Given the description of an element on the screen output the (x, y) to click on. 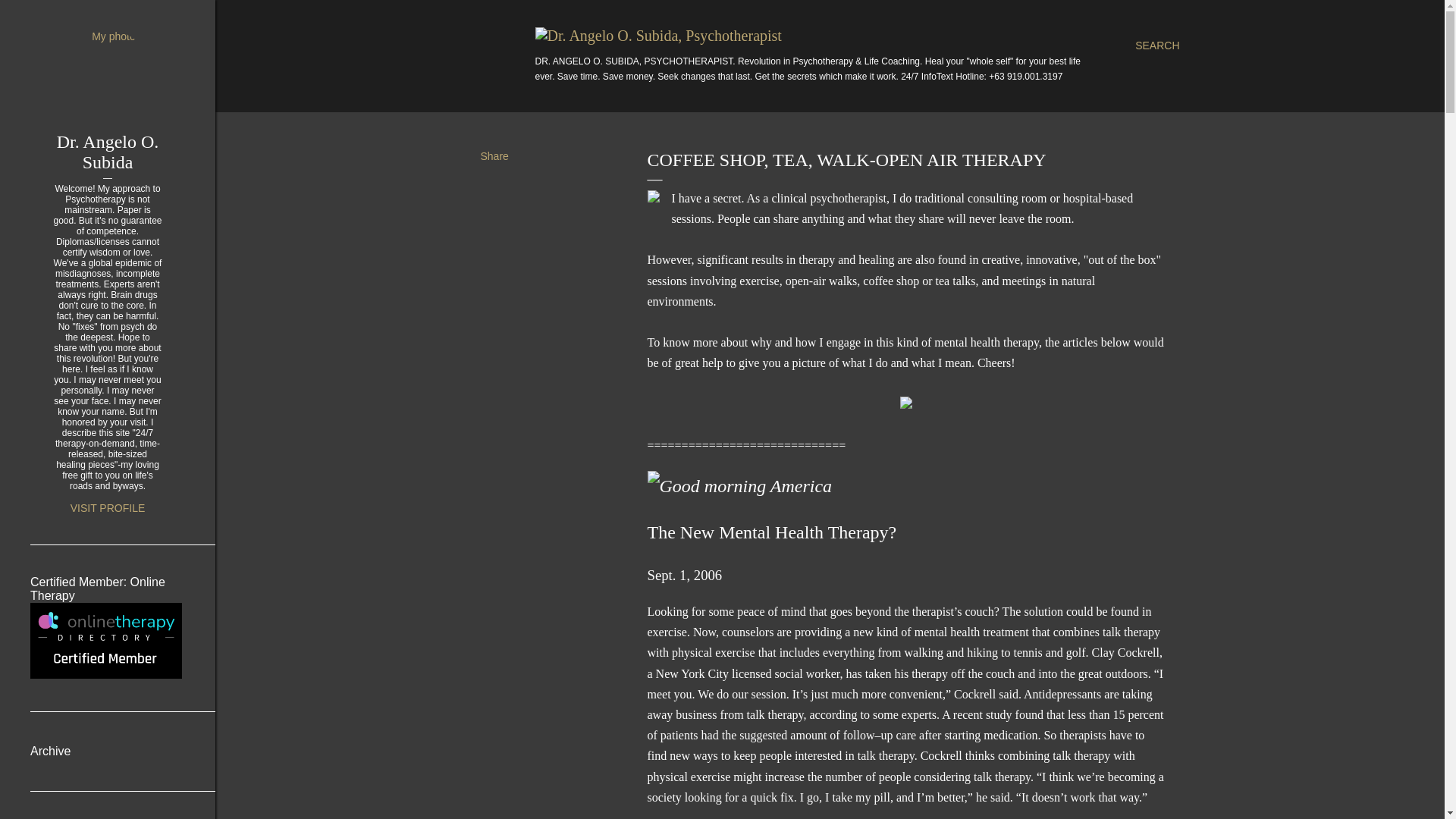
Share (494, 155)
Dr. Angelo O. Subida (107, 151)
VISIT PROFILE (107, 508)
SEARCH (1157, 45)
